Given the description of an element on the screen output the (x, y) to click on. 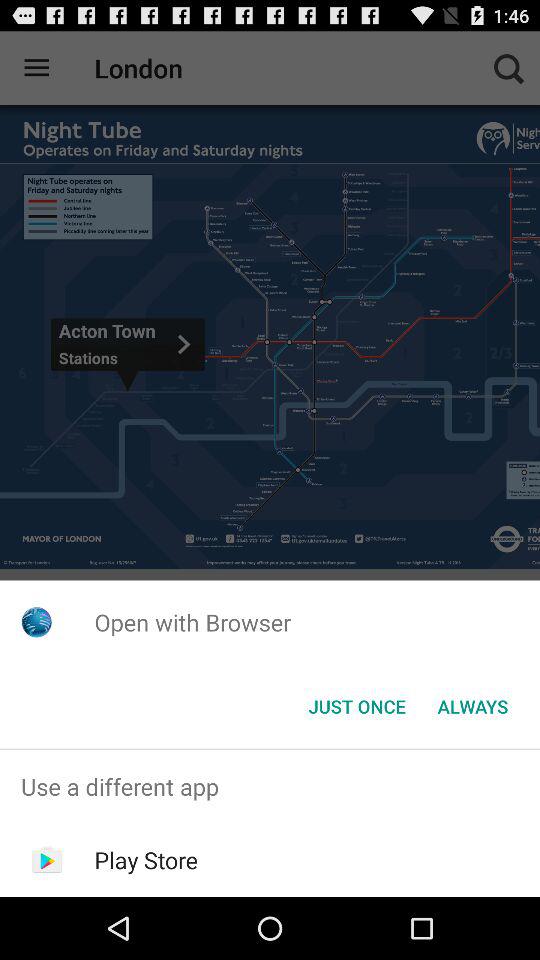
choose item next to the just once button (472, 706)
